Given the description of an element on the screen output the (x, y) to click on. 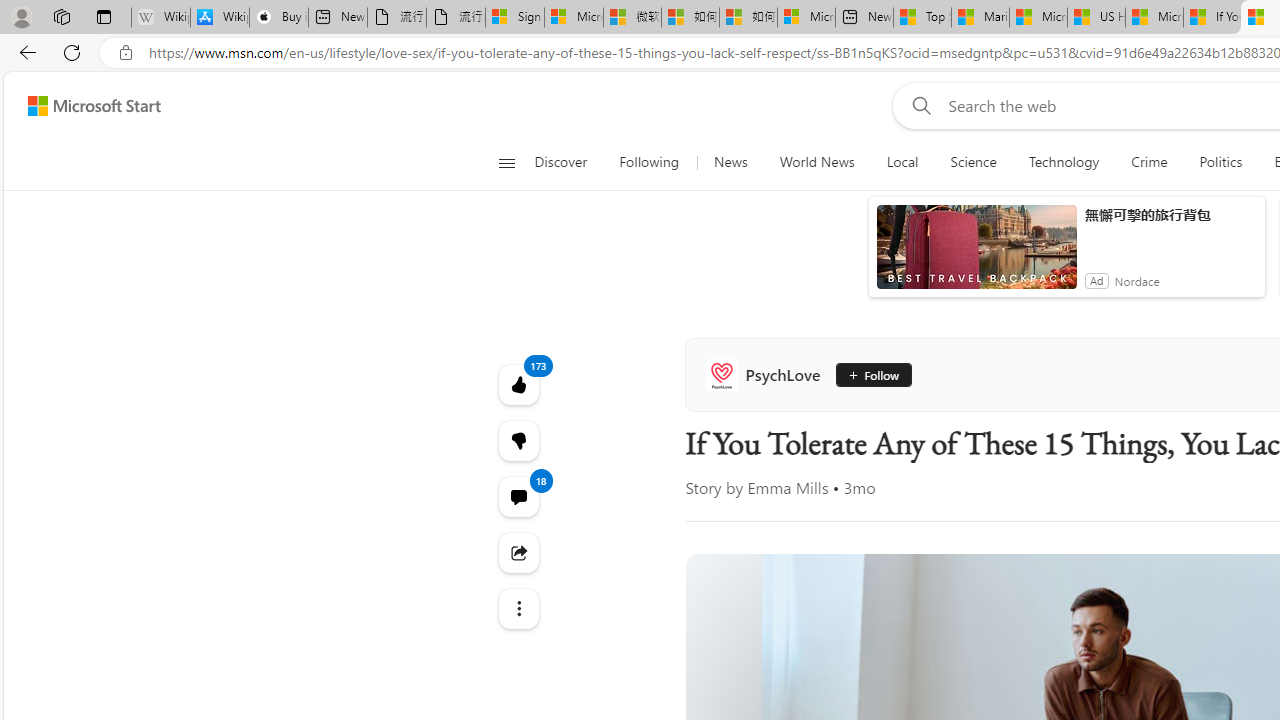
Local (902, 162)
Share this story (517, 552)
Class: at-item (517, 609)
Local (902, 162)
Open navigation menu (506, 162)
World News (817, 162)
